Given the description of an element on the screen output the (x, y) to click on. 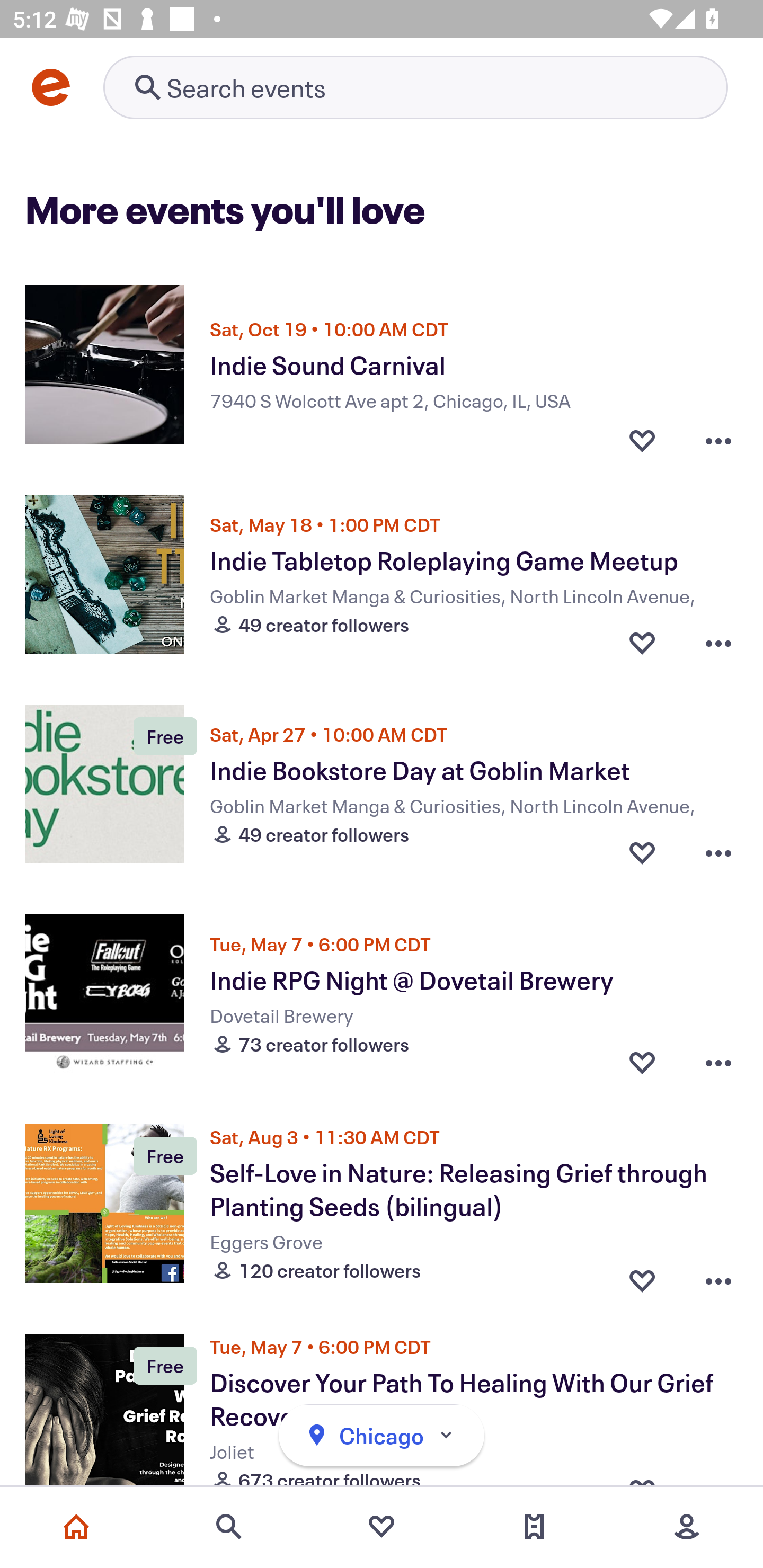
Retry's image Search events (415, 86)
Favorite button (642, 435)
Overflow menu button (718, 435)
Favorite button (642, 641)
Overflow menu button (718, 641)
Favorite button (642, 852)
Overflow menu button (718, 852)
Favorite button (642, 1062)
Overflow menu button (718, 1062)
Favorite button (642, 1275)
Overflow menu button (718, 1275)
Chicago (381, 1435)
Home (76, 1526)
Search events (228, 1526)
Favorites (381, 1526)
Tickets (533, 1526)
More (686, 1526)
